Given the description of an element on the screen output the (x, y) to click on. 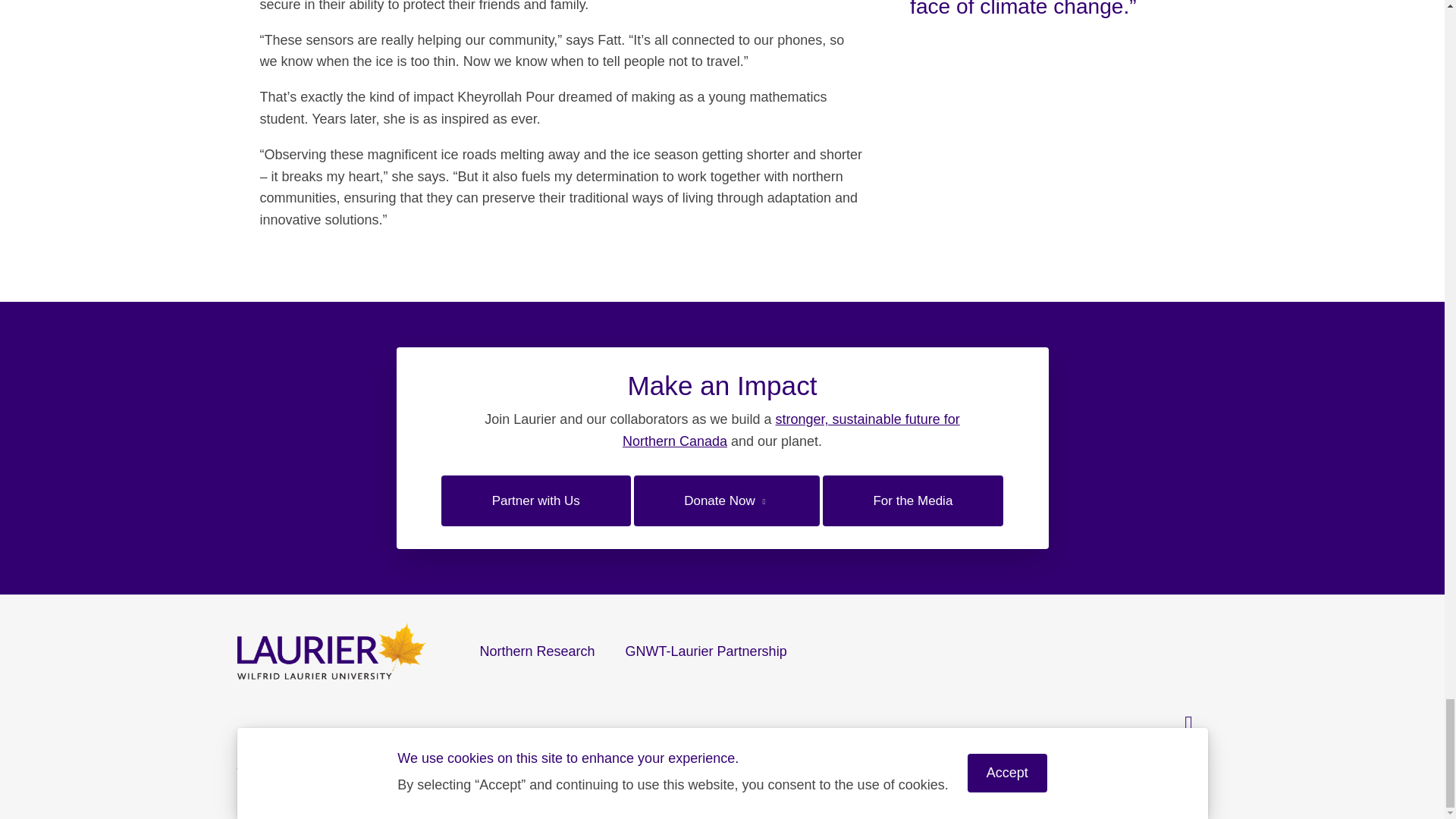
Donate Now (726, 500)
stronger, sustainable future for Northern Canada (791, 429)
GNWT-Laurier Partnership (706, 651)
Northern Research (537, 651)
For the Media (912, 500)
Partner with Us (535, 500)
